Given the description of an element on the screen output the (x, y) to click on. 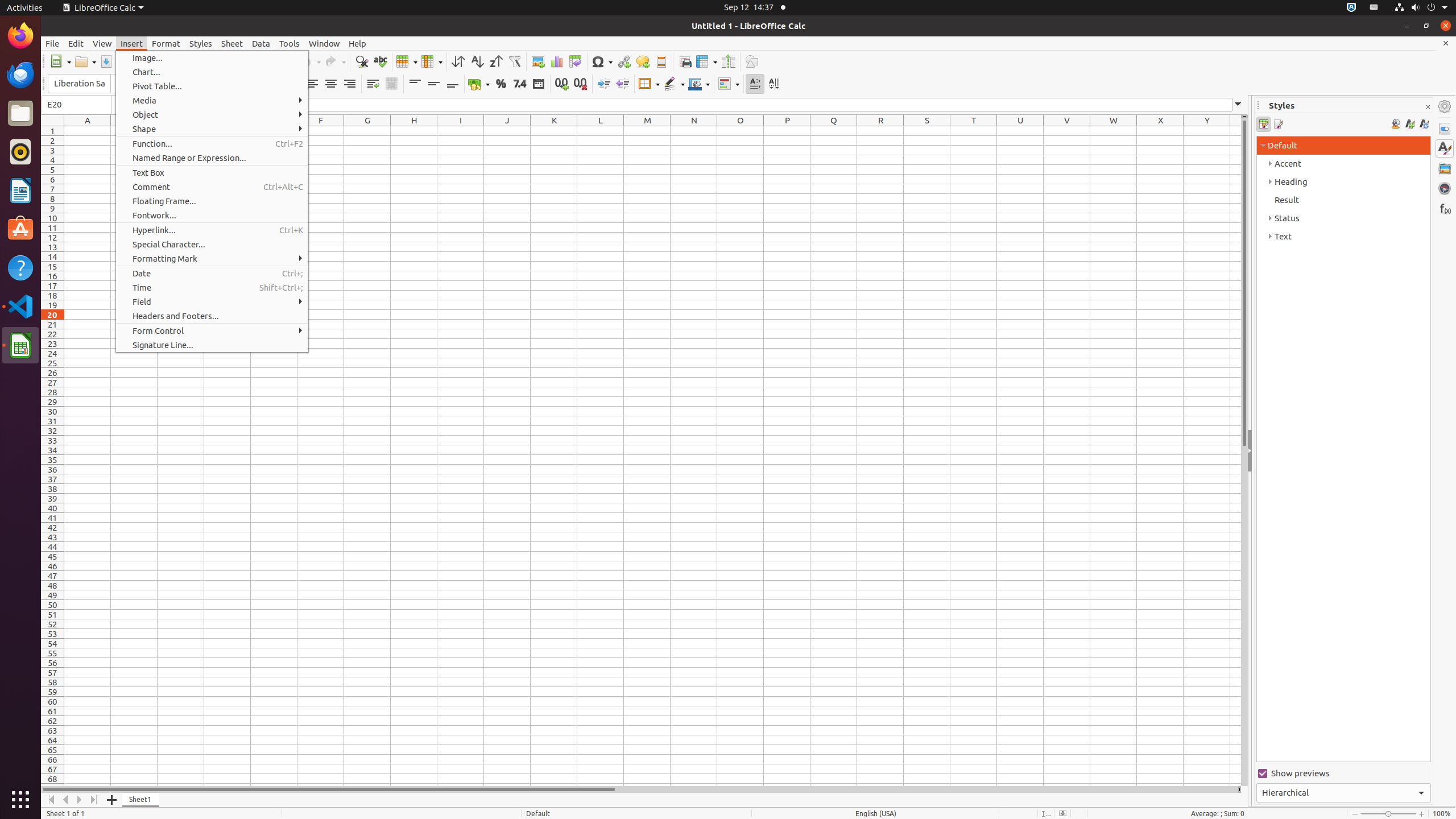
Open Element type: push-button (84, 61)
Media Element type: menu (212, 100)
Align Right Element type: push-button (349, 83)
Show previews Element type: check-box (1343, 773)
Delete Decimal Place Element type: push-button (580, 83)
